Given the description of an element on the screen output the (x, y) to click on. 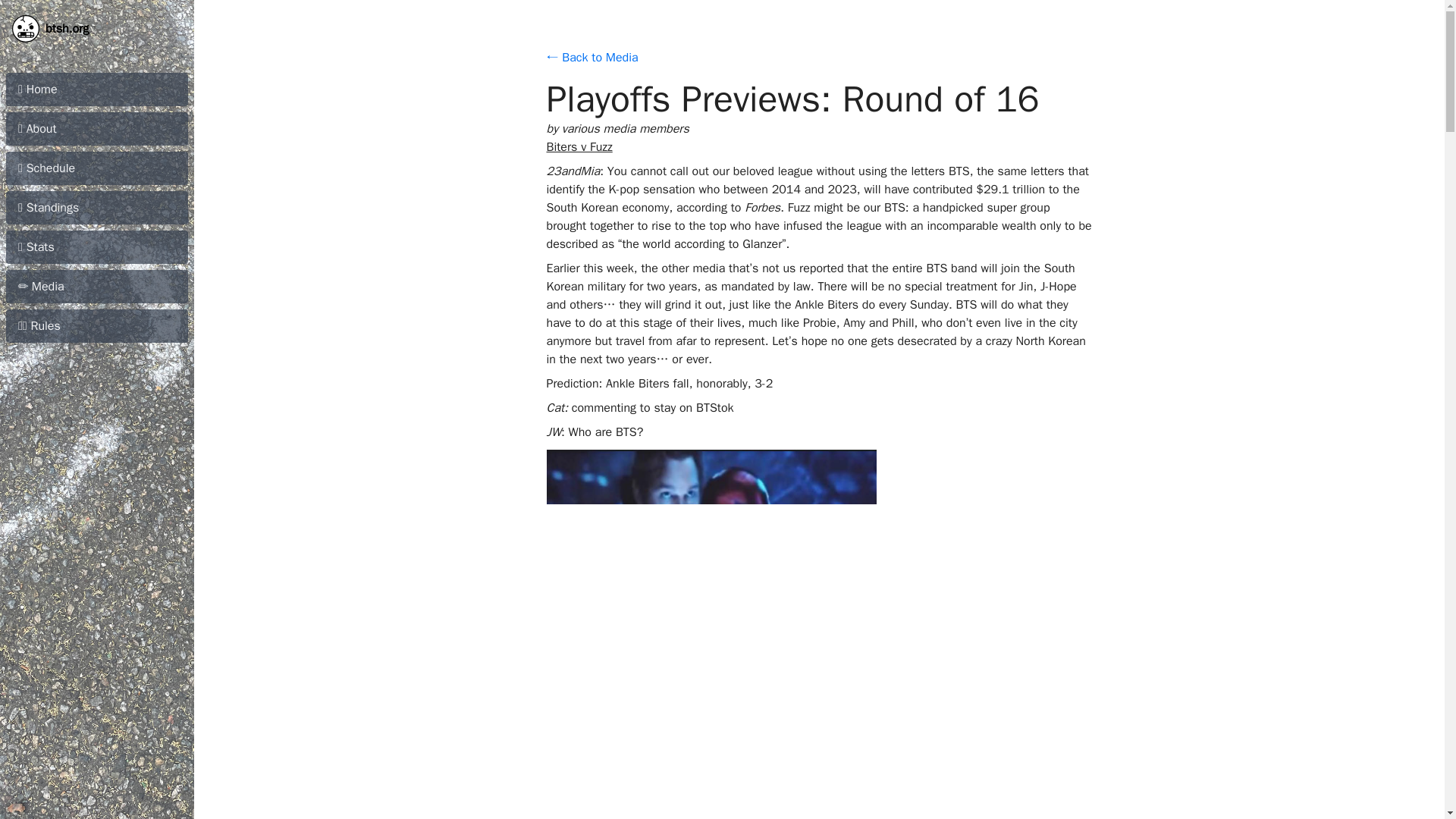
btsh.org (96, 28)
